Given the description of an element on the screen output the (x, y) to click on. 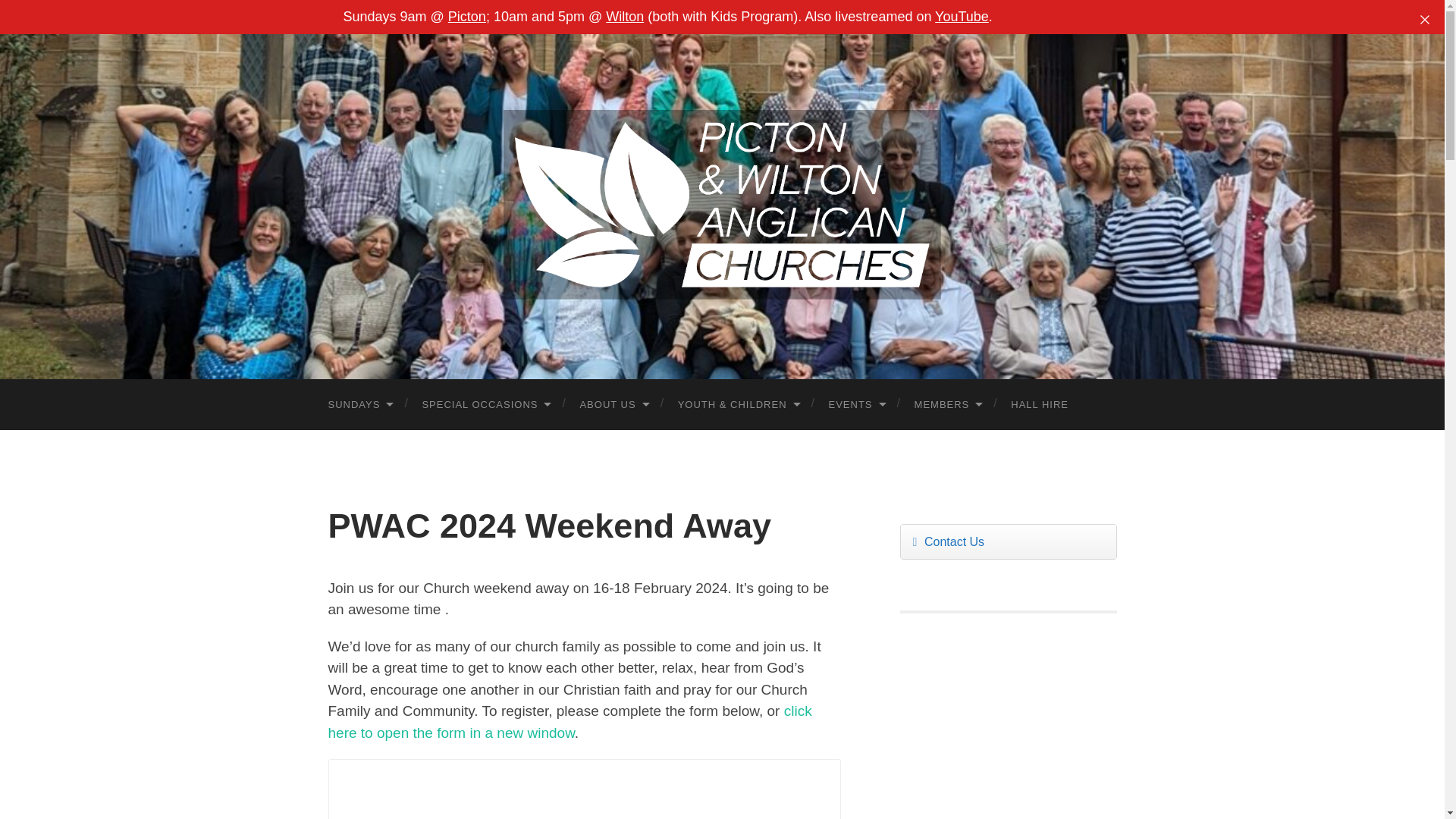
Close (1425, 19)
Picton (467, 16)
ABOUT US (613, 404)
EVENTS (856, 404)
MEMBERS (947, 404)
YouTube (961, 16)
SUNDAYS (359, 404)
SPECIAL OCCASIONS (485, 404)
Wilton (624, 16)
